Given the description of an element on the screen output the (x, y) to click on. 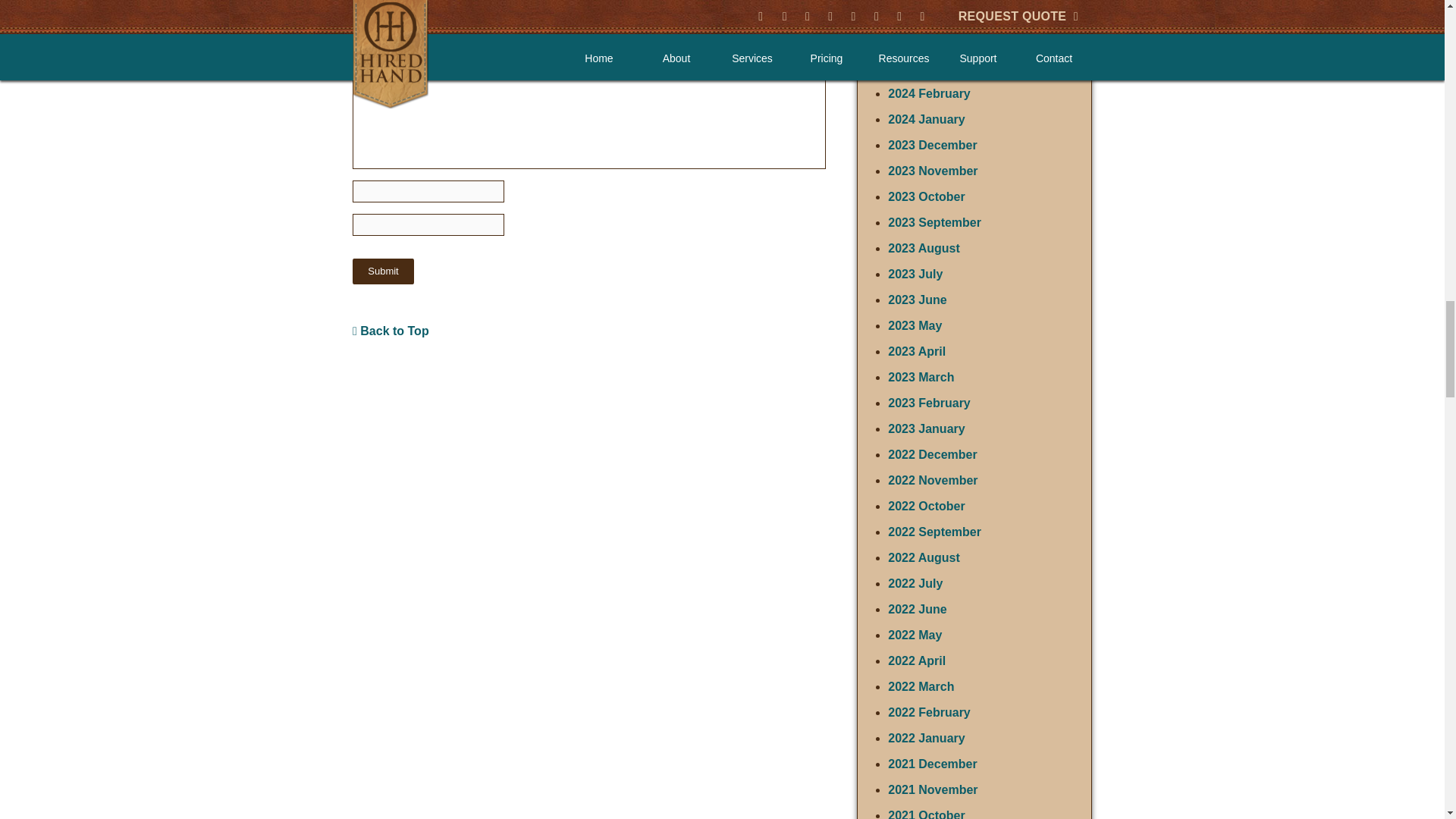
Submit (382, 271)
